Given the description of an element on the screen output the (x, y) to click on. 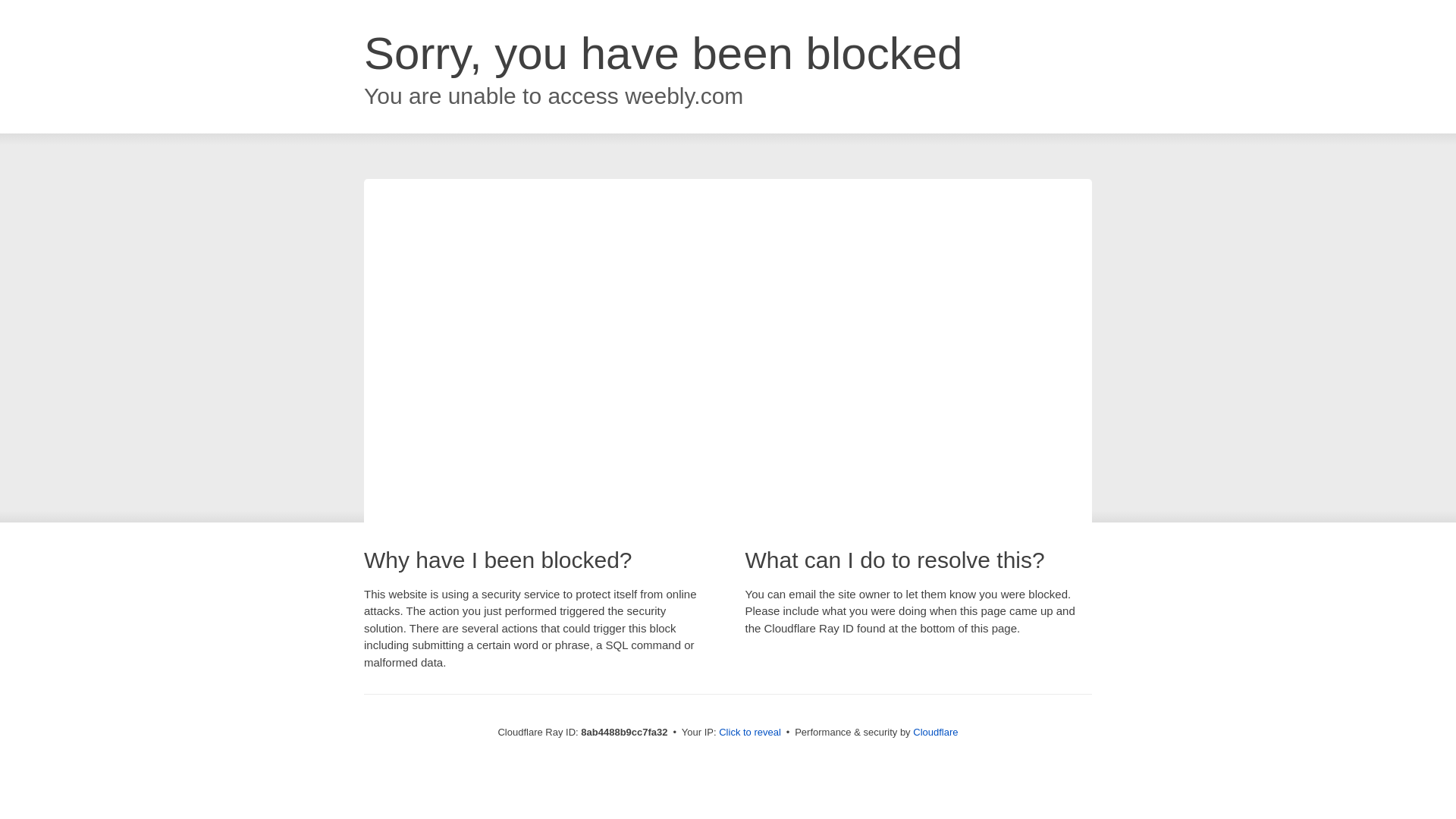
Cloudflare (935, 731)
Click to reveal (749, 732)
